Given the description of an element on the screen output the (x, y) to click on. 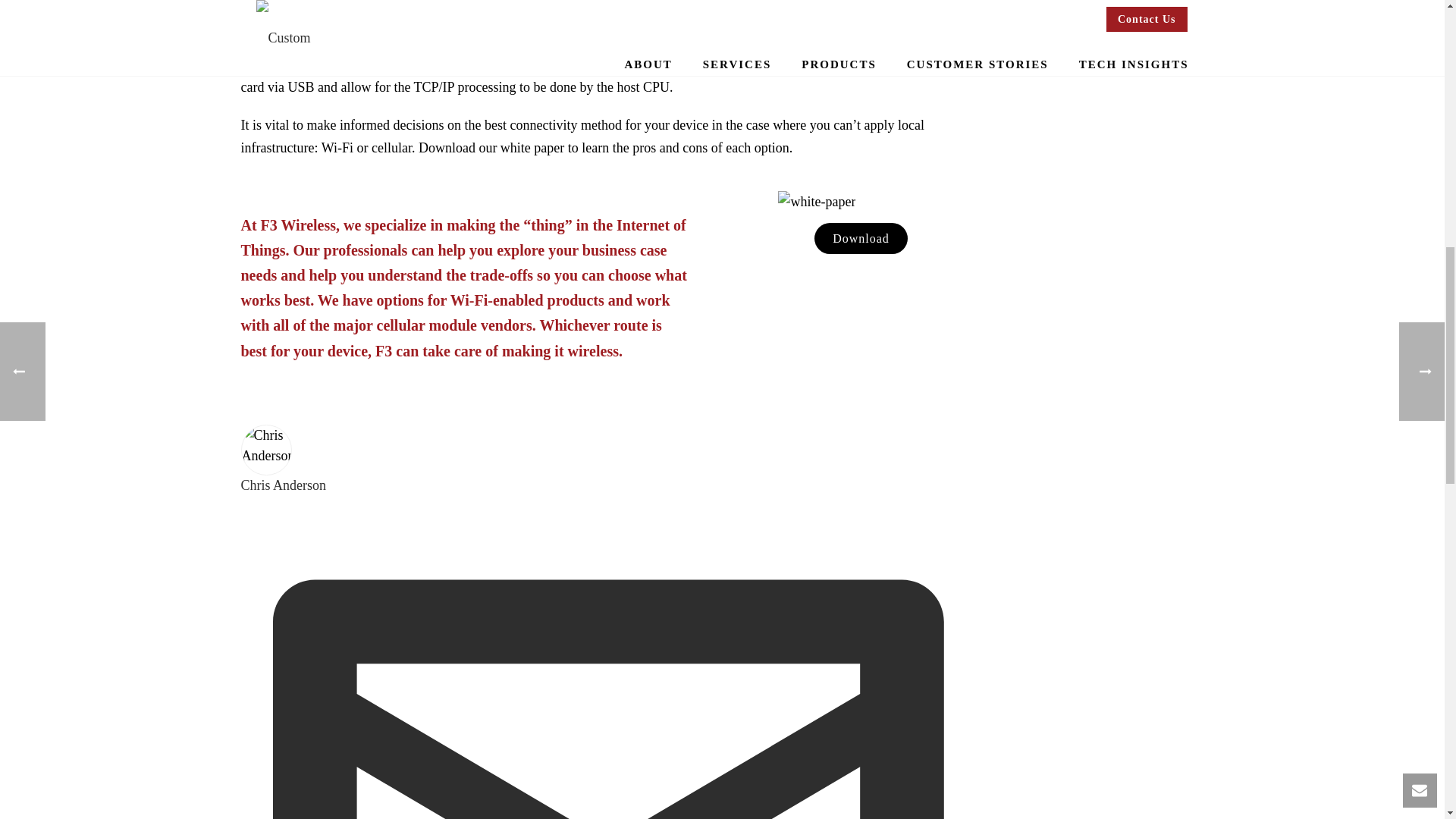
Download (860, 237)
Wi-Fi or cellular (366, 147)
Chris Anderson (283, 485)
